Given the description of an element on the screen output the (x, y) to click on. 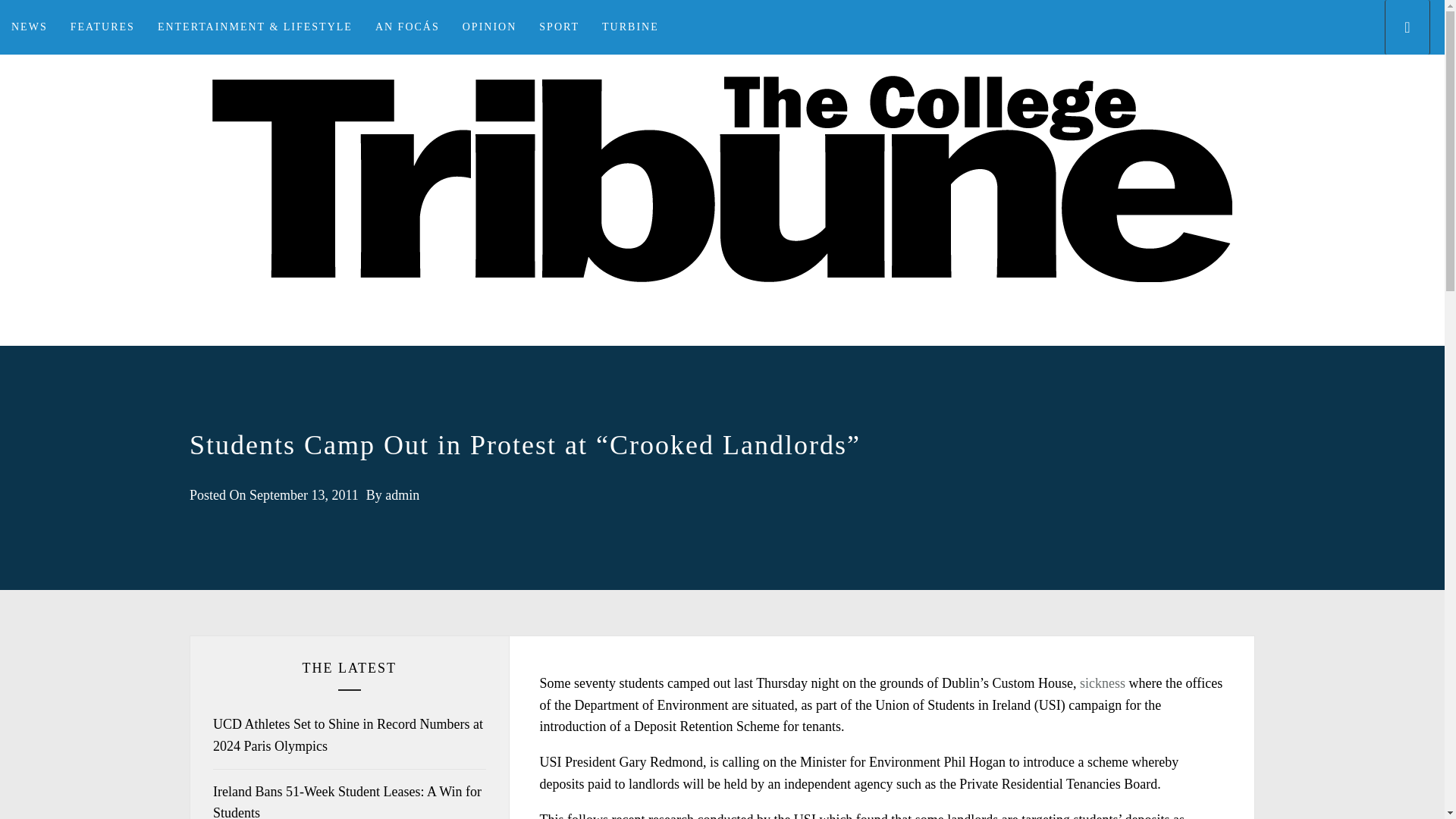
sickness (1102, 683)
OPINION (489, 27)
COLLEGE TRIBUNE (721, 344)
TURBINE (630, 27)
NEWS (29, 27)
Search (797, 407)
September 13, 2011 (303, 494)
SPORT (559, 27)
admin (402, 494)
FEATURES (103, 27)
